Given the description of an element on the screen output the (x, y) to click on. 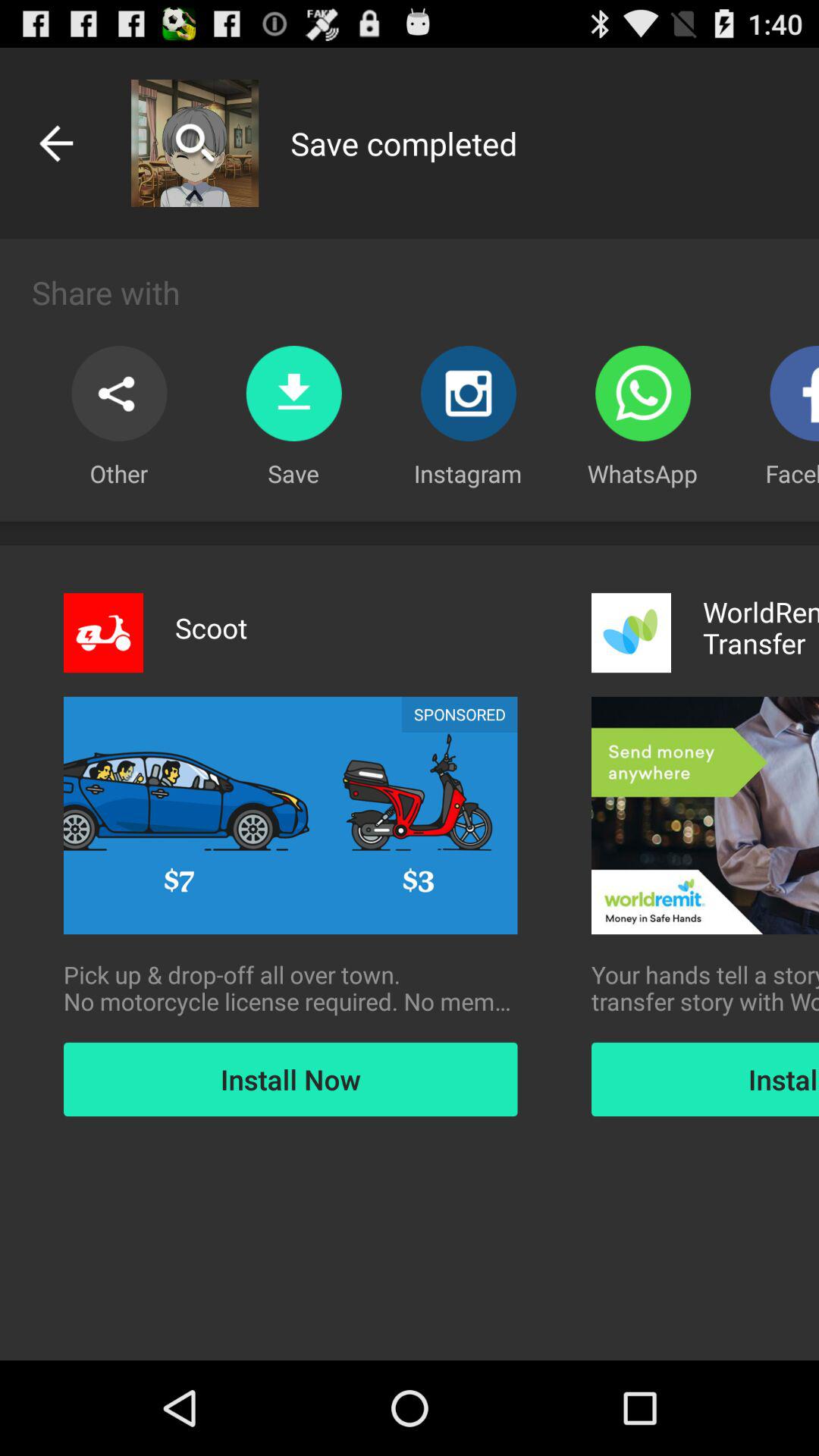
turn off the item next to the pick up drop (705, 988)
